Given the description of an element on the screen output the (x, y) to click on. 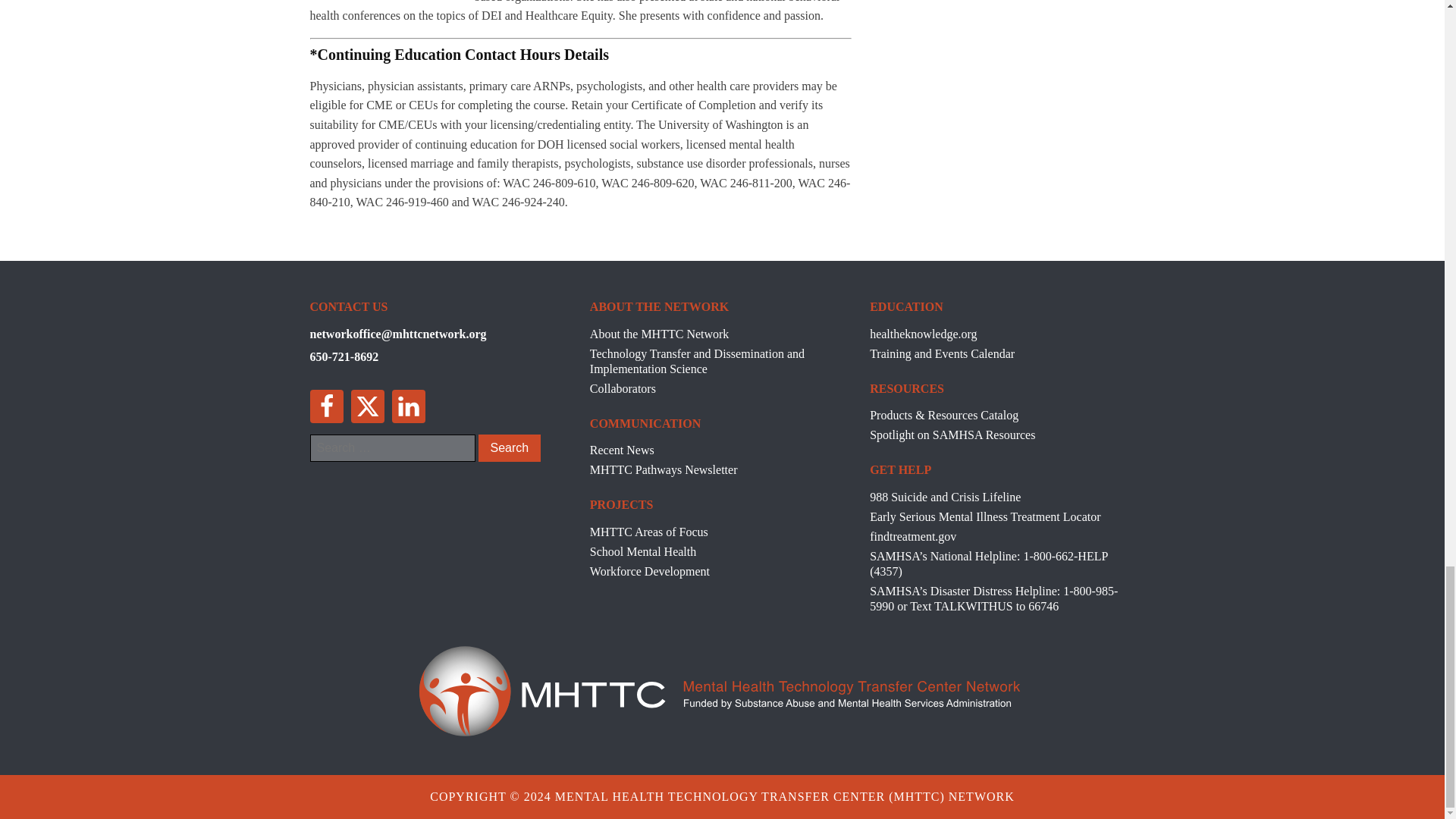
Search (508, 447)
Search (508, 447)
